Given the description of an element on the screen output the (x, y) to click on. 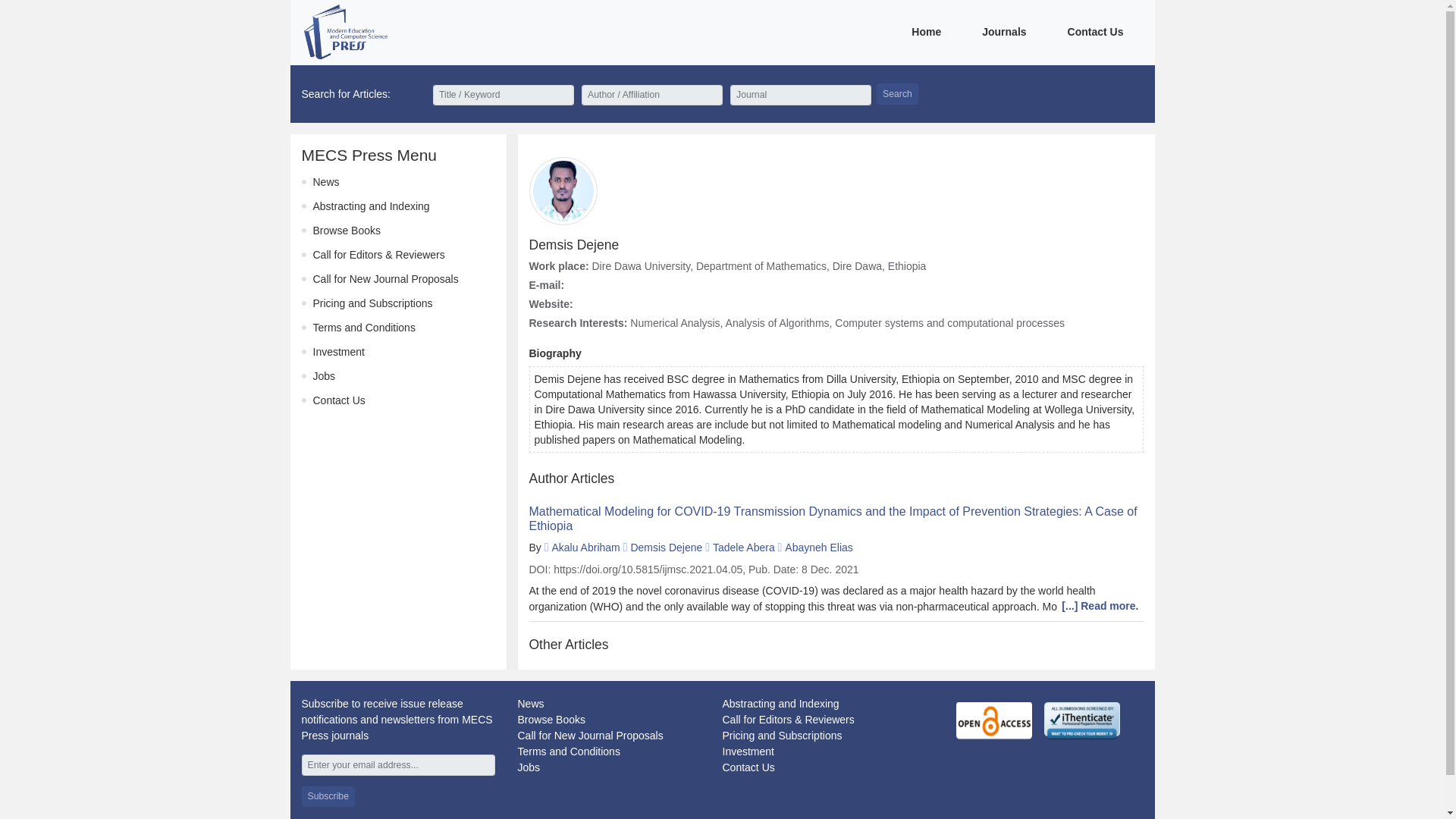
Investment (747, 751)
Tadele Abera (743, 547)
Investment (338, 351)
Abstracting and Indexing (780, 703)
Pricing and Subscriptions (781, 735)
Subscribe (328, 796)
Call for New Journal Proposals (589, 735)
Abstracting and Indexing (371, 205)
Pricing and Subscriptions (372, 303)
Contact Us (748, 767)
Search (897, 93)
News (326, 182)
Demsis Dejene (665, 547)
Terms and Conditions (363, 327)
